Given the description of an element on the screen output the (x, y) to click on. 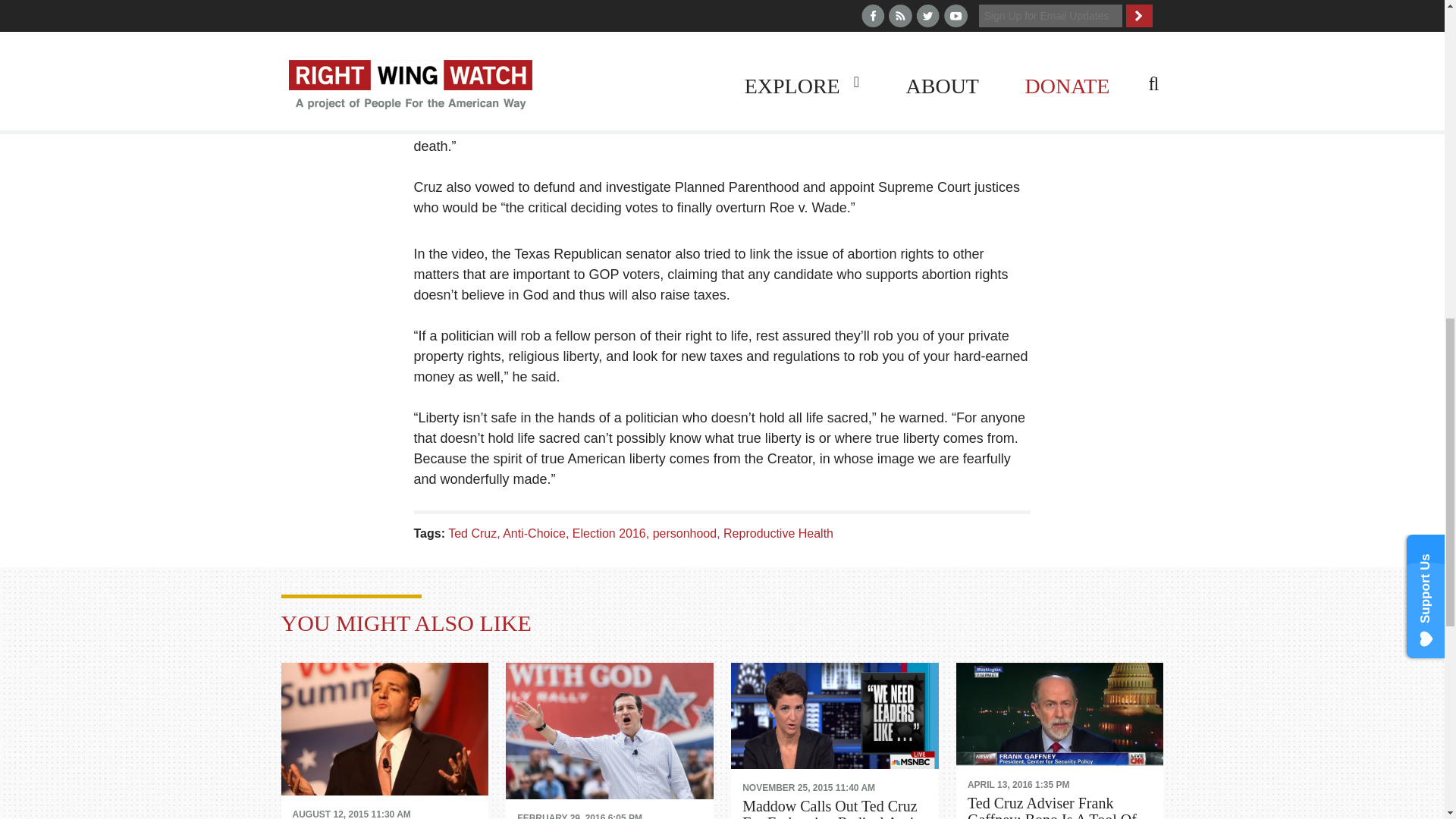
Anti-Choice (537, 533)
personhood (687, 533)
Election 2016 (612, 533)
Ted Cruz Gushes Over Support From Radical Anti-Gay Activists (609, 732)
Ted Cruz (475, 533)
Reproductive Health (777, 533)
Ted Cruz Gushes Over Support From Radical Anti-Gay Activists (609, 810)
